Given the description of an element on the screen output the (x, y) to click on. 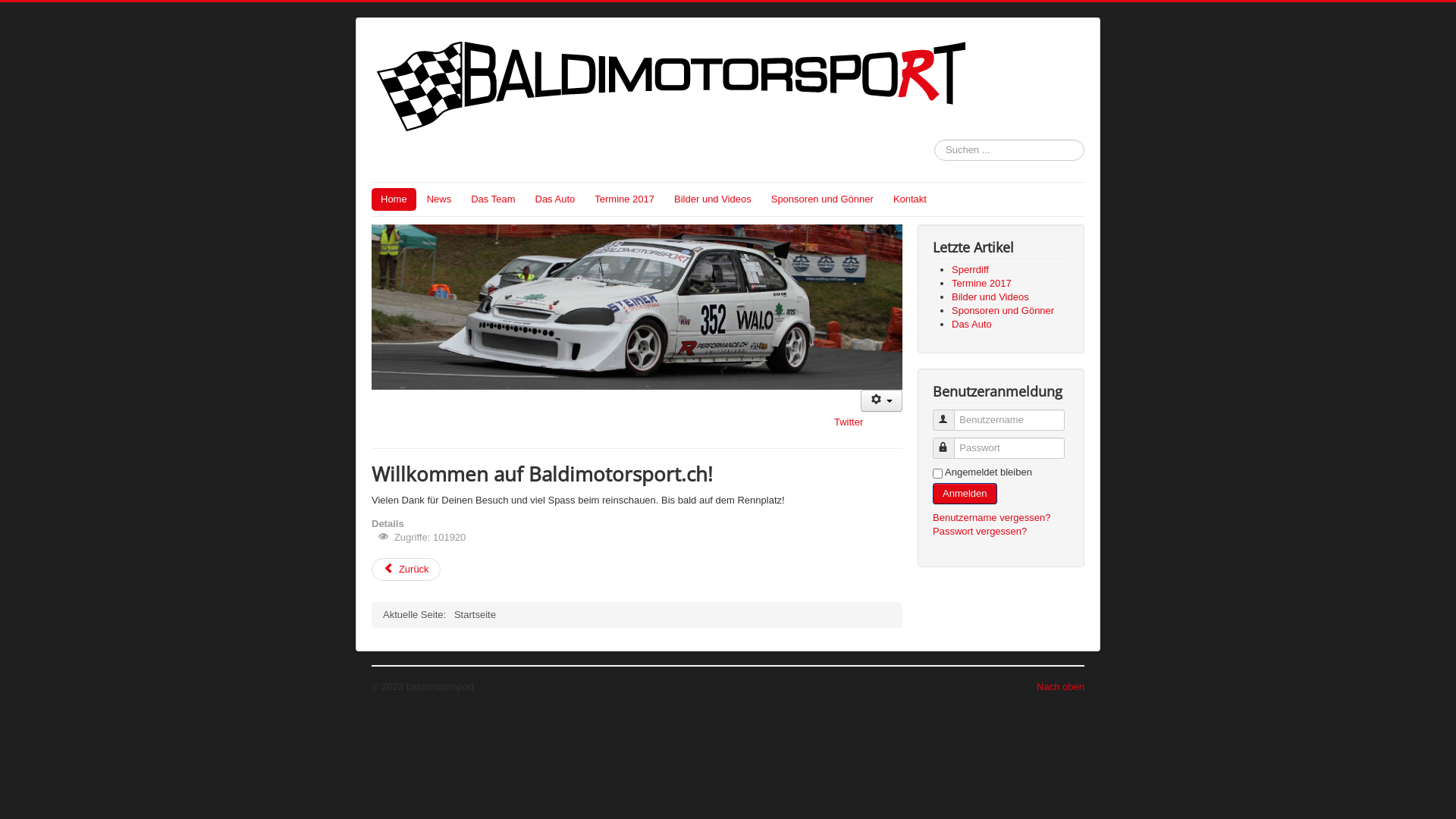
Sperrdiff Element type: text (969, 269)
Termine 2017 Element type: text (981, 282)
Home Element type: text (393, 199)
Benutzername vergessen? Element type: text (991, 517)
Kontakt Element type: text (909, 199)
Nach oben Element type: text (1060, 686)
News Element type: text (439, 199)
Das Team Element type: text (492, 199)
Bilder und Videos Element type: text (990, 296)
Twitter Element type: text (848, 421)
Anmelden Element type: text (964, 493)
Das Auto Element type: text (555, 199)
Bilder und Videos Element type: text (712, 199)
Termine 2017 Element type: text (624, 199)
Passwort vergessen? Element type: text (979, 530)
Das Auto Element type: text (971, 323)
